Given the description of an element on the screen output the (x, y) to click on. 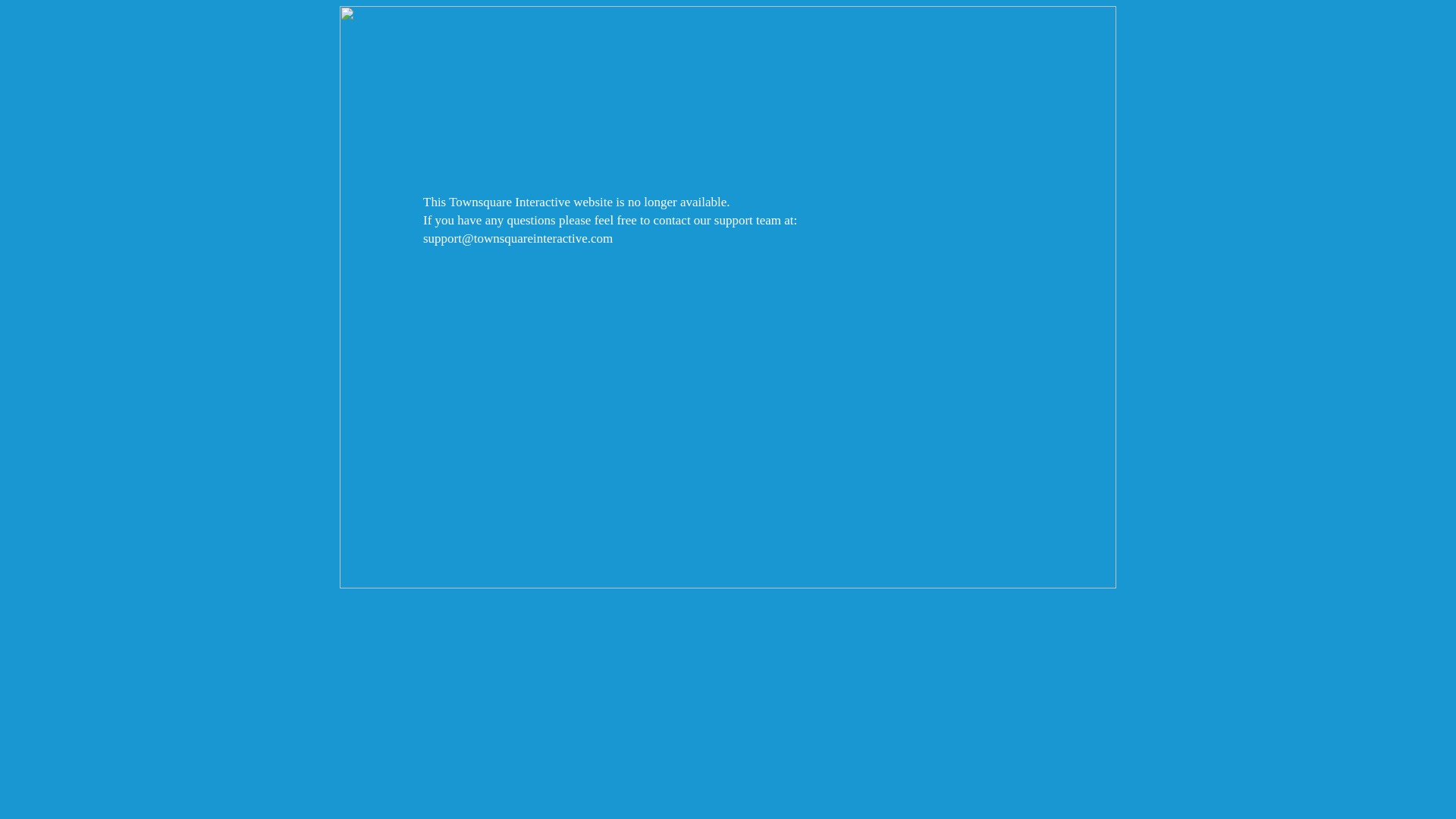
Townsquare Interactive Element type: hover (727, 297)
